Given the description of an element on the screen output the (x, y) to click on. 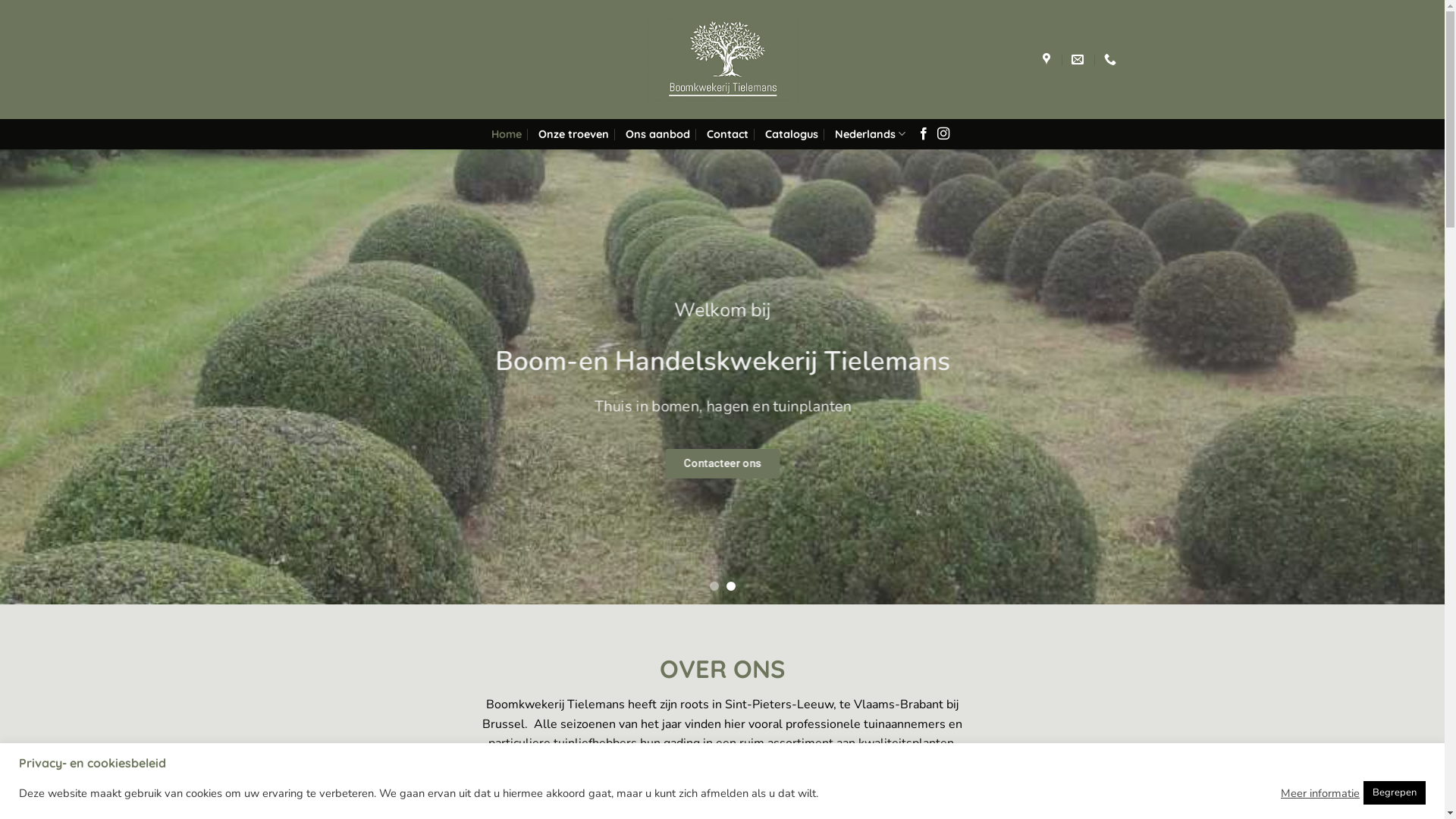
Onze troeven Element type: text (573, 133)
Contact Element type: text (727, 133)
Meer informatie Element type: text (1319, 792)
Begrepen Element type: text (1394, 792)
boomkwekerijtielemans - Boomkwekerijtielemans Element type: hover (721, 59)
Nederlands Element type: text (869, 133)
Contacteer ons Element type: text (722, 463)
Catalogus Element type: text (791, 133)
Ons aanbod Element type: text (657, 133)
Home Element type: text (506, 133)
